Given the description of an element on the screen output the (x, y) to click on. 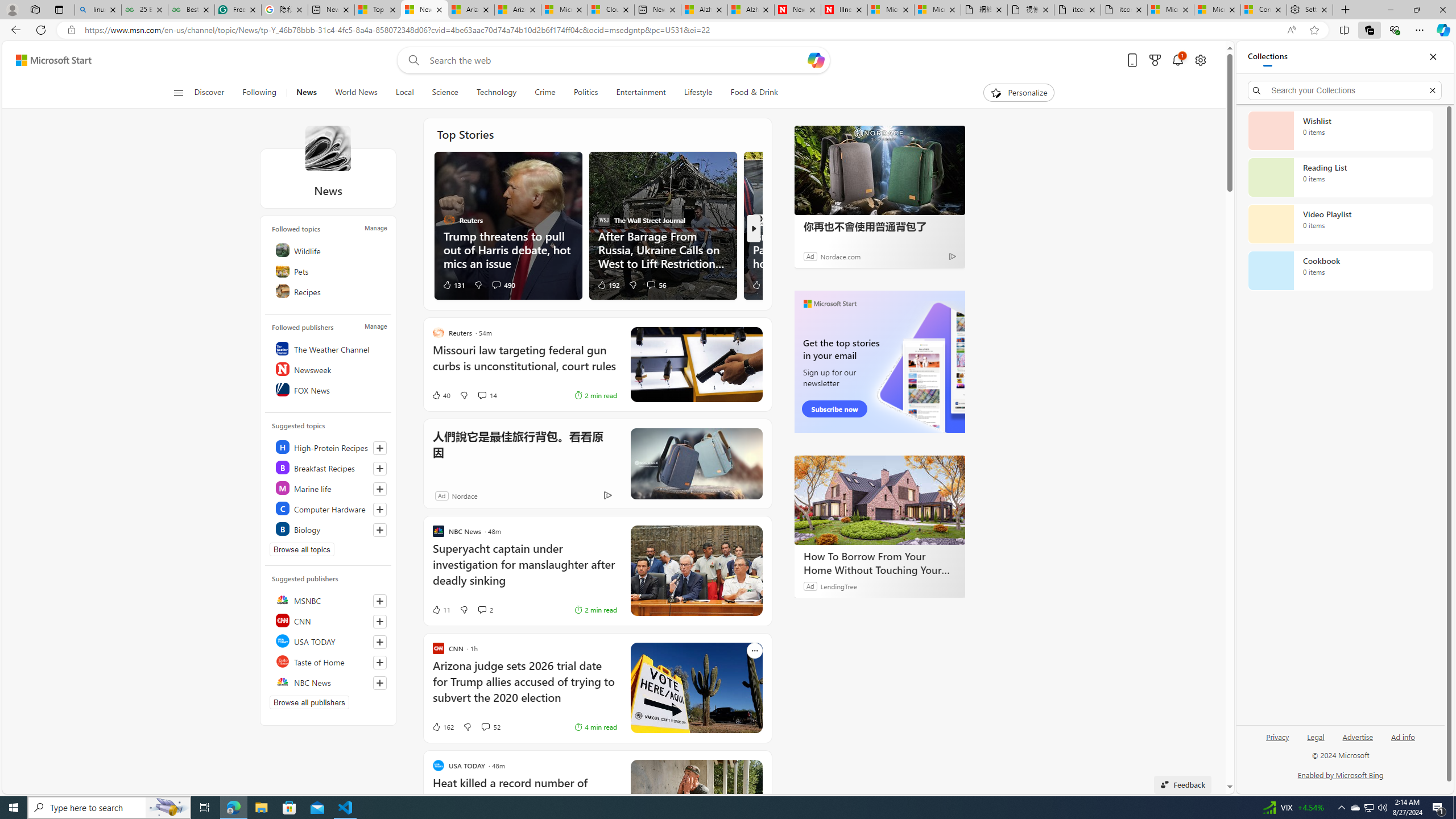
Notifications (1177, 60)
Cloud Computing Services | Microsoft Azure (610, 9)
View comments 2 Comment (485, 609)
World News (355, 92)
Technology (496, 92)
MSNBC (328, 600)
